Given the description of an element on the screen output the (x, y) to click on. 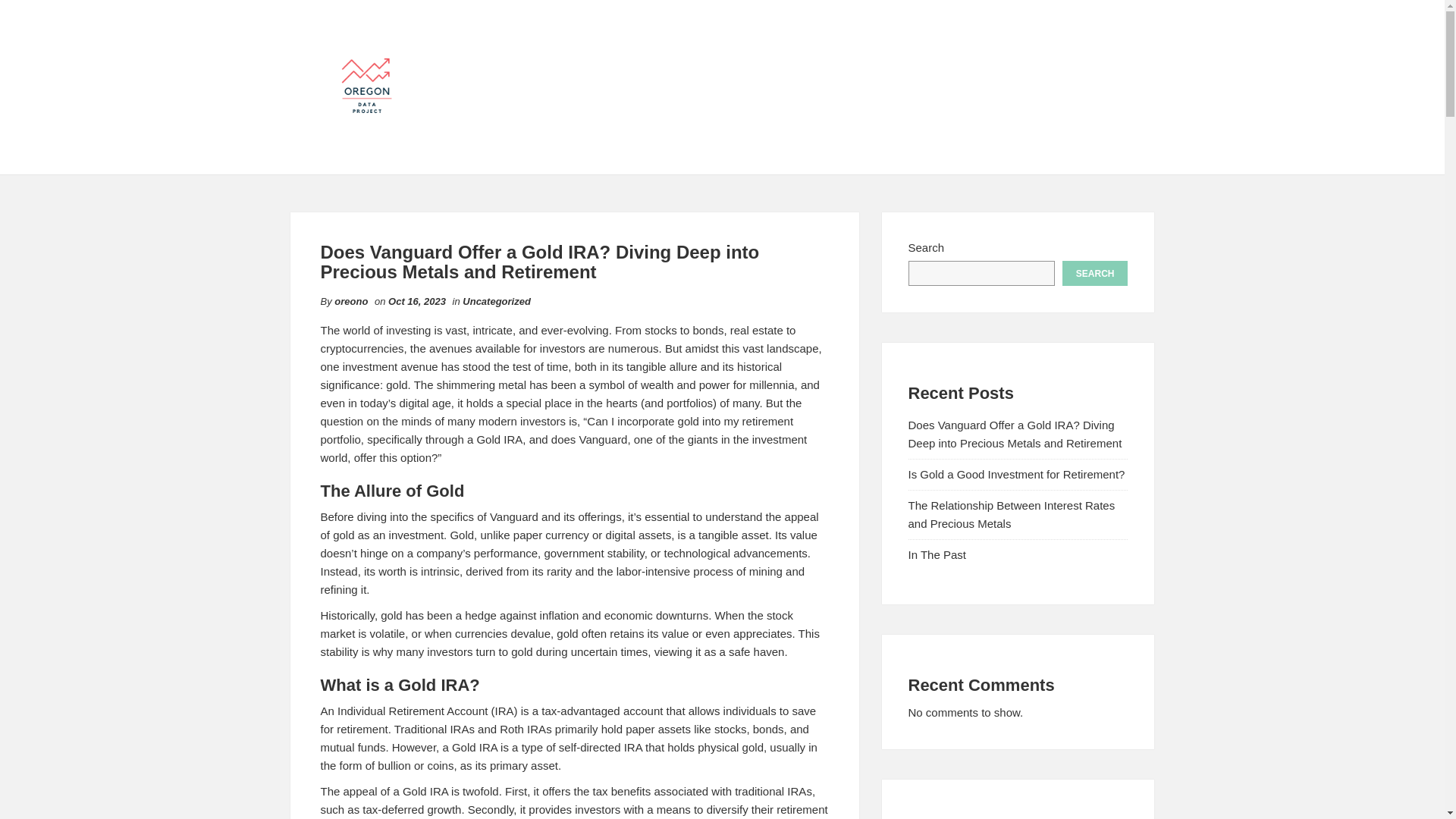
Is Gold a Good Investment for Retirement? (1016, 473)
In The Past (937, 554)
Uncategorized (497, 301)
SEARCH (1095, 273)
The Relationship Between Interest Rates and Precious Metals (1011, 513)
oreono (351, 301)
